Given the description of an element on the screen output the (x, y) to click on. 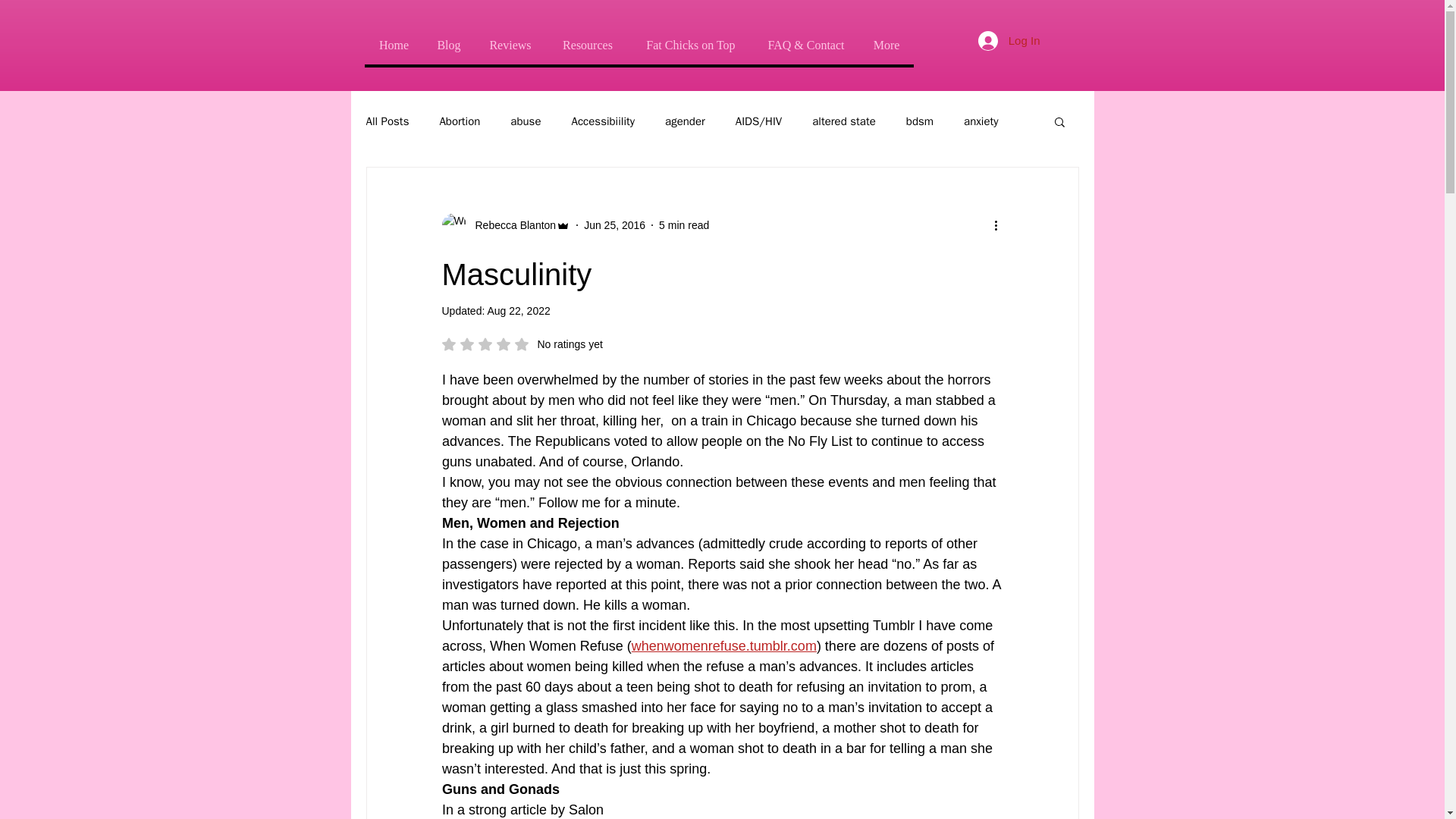
Home (393, 44)
Jun 25, 2016 (614, 224)
Log In (1009, 39)
5 min read (684, 224)
agender (684, 120)
Resources (586, 44)
altered state (844, 120)
Fat Chicks on Top (689, 44)
anxiety (980, 120)
Rebecca Blanton (510, 224)
bdsm (919, 120)
Reviews (509, 44)
Blog (448, 44)
Abortion (459, 120)
Accessibiility (602, 120)
